Given the description of an element on the screen output the (x, y) to click on. 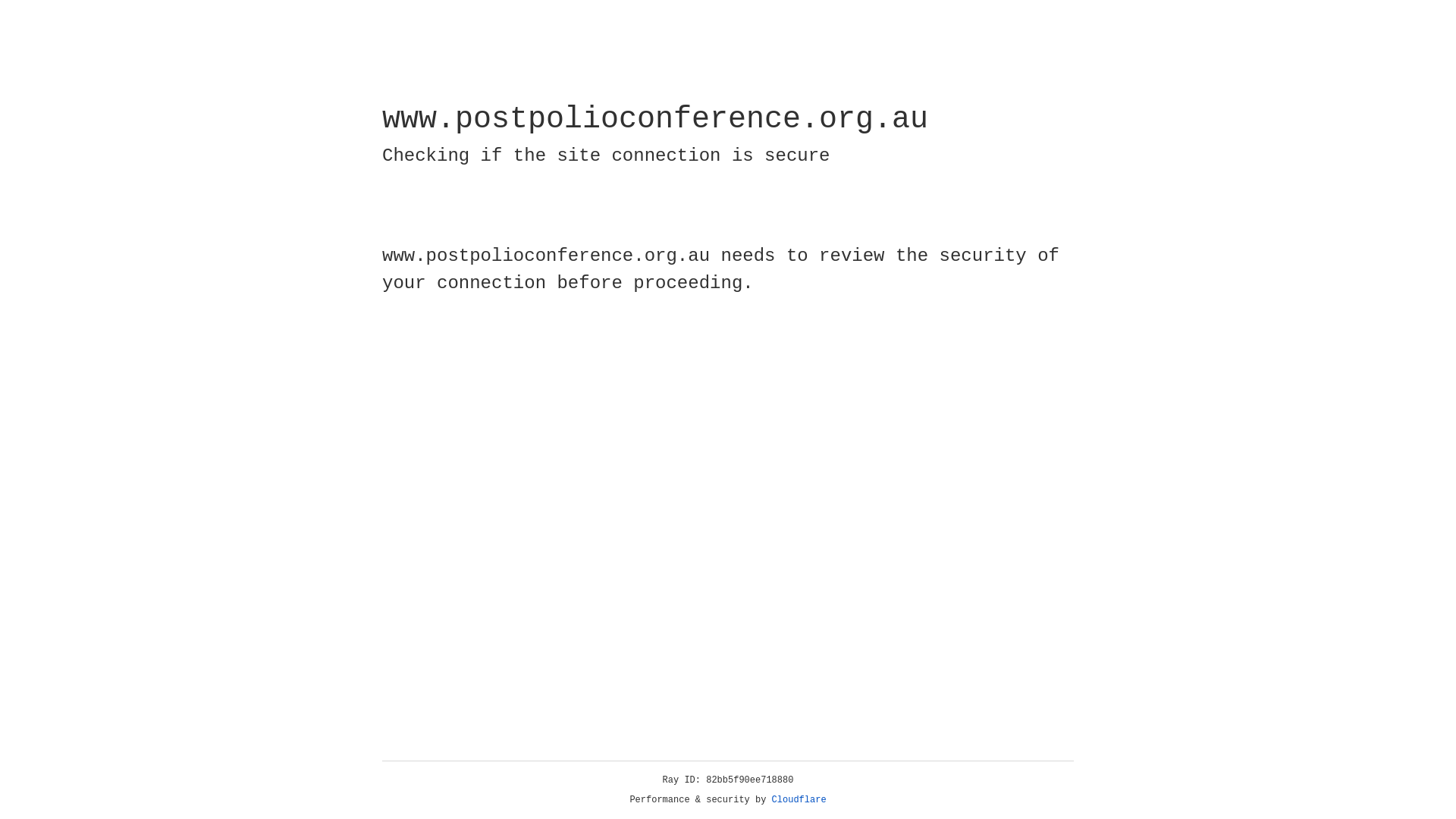
Cloudflare Element type: text (798, 799)
